Given the description of an element on the screen output the (x, y) to click on. 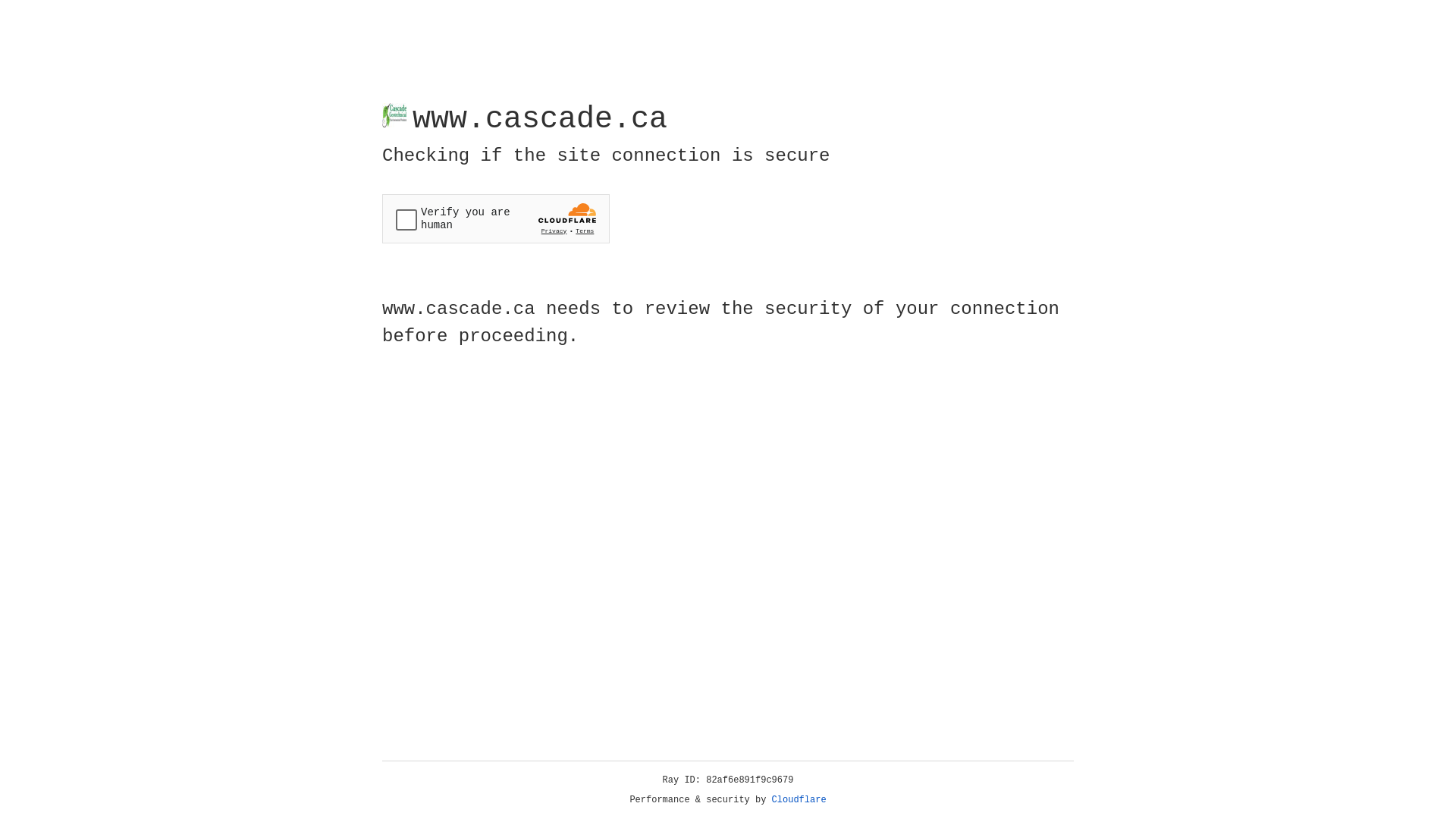
Widget containing a Cloudflare security challenge Element type: hover (495, 218)
Cloudflare Element type: text (798, 799)
